Given the description of an element on the screen output the (x, y) to click on. 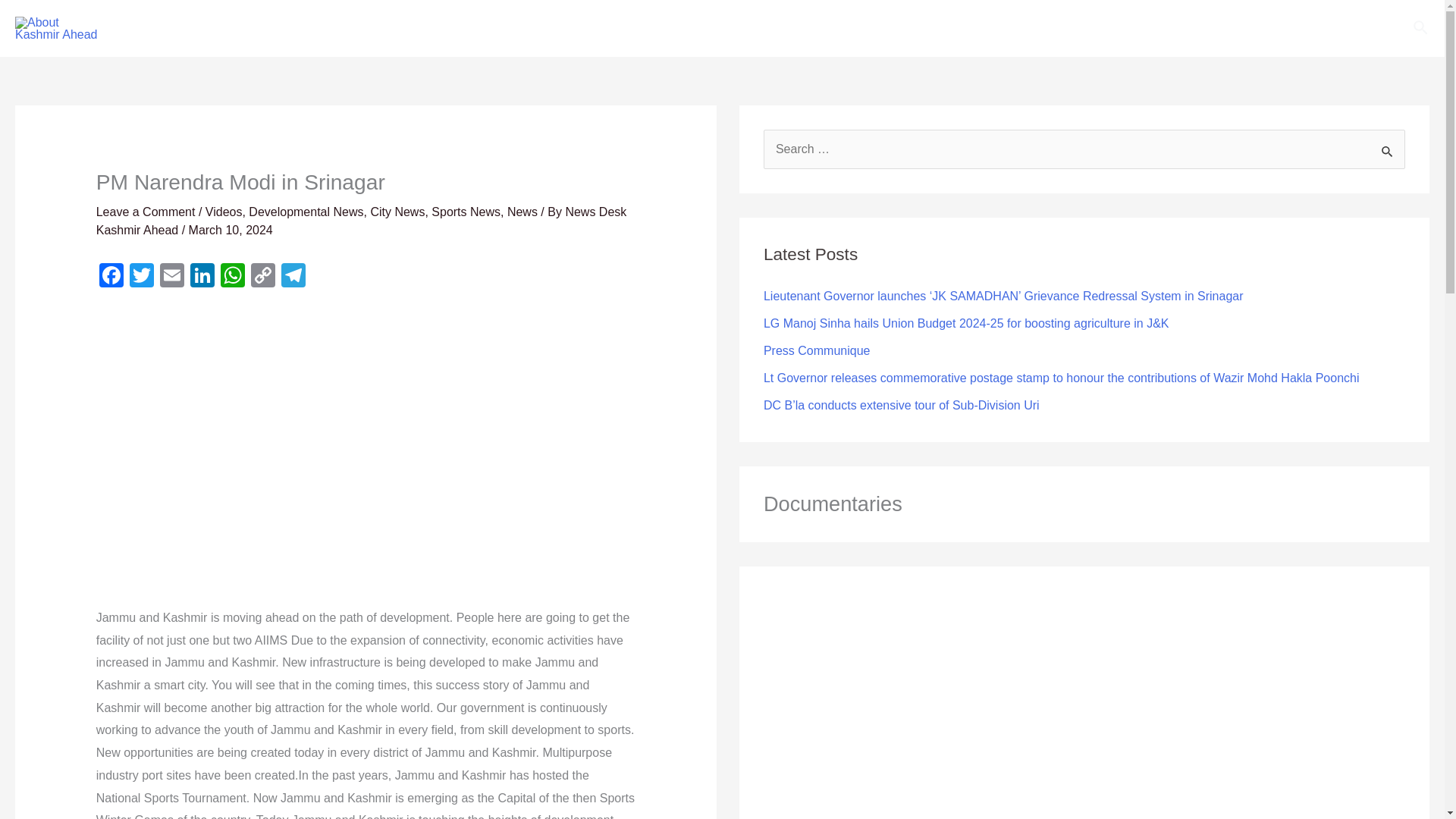
Twitter (141, 276)
View all posts by News Desk Kashmir Ahead (361, 220)
WhatsApp (231, 276)
About (421, 28)
Search (1388, 150)
Search (1388, 150)
Leave a Comment (145, 211)
Videos (224, 211)
WhatsApp (231, 276)
Search (1421, 28)
Twitter (141, 276)
Contact (482, 28)
Telegram (293, 276)
Copy Link (262, 276)
Developmental News (305, 211)
